Given the description of an element on the screen output the (x, y) to click on. 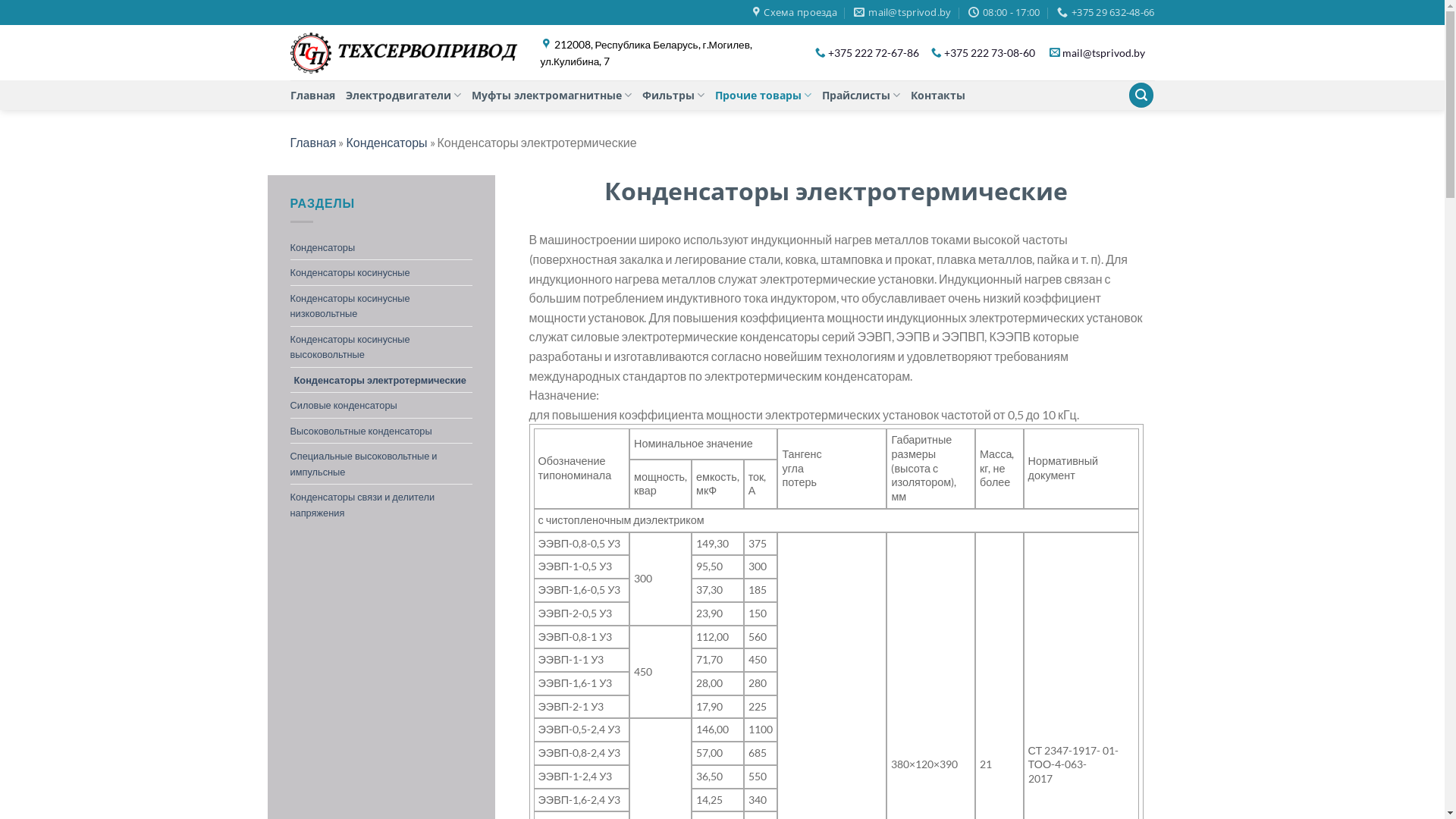
08:00 - 17:00 Element type: text (1004, 11)
mail@tsprivod.by Element type: text (1108, 53)
+375 29 632-48-66 Element type: text (1105, 11)
+375 222 73-08-60 Element type: text (994, 53)
mail@tsprivod.by Element type: text (901, 11)
+375 222 72-67-86 Element type: text (878, 53)
